Given the description of an element on the screen output the (x, y) to click on. 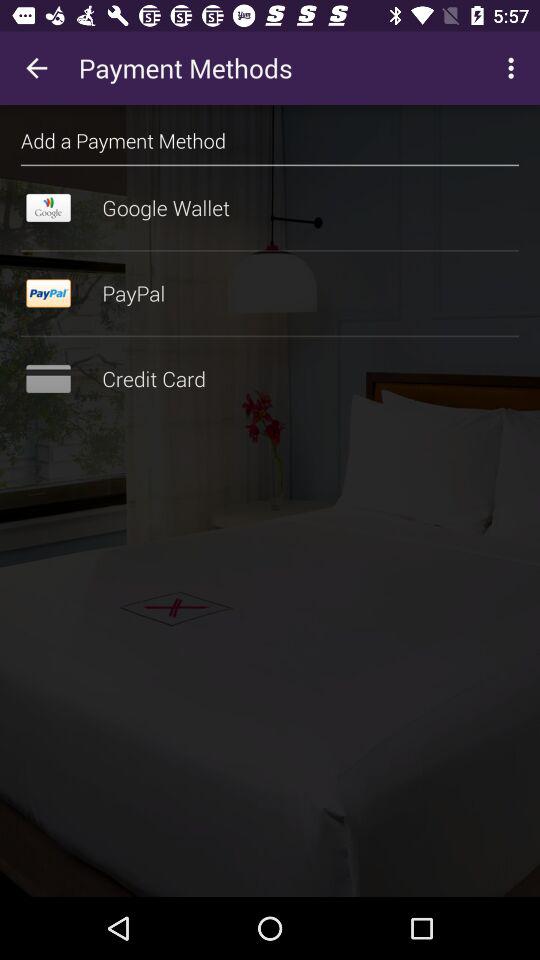
turn on item next to payment methods app (513, 67)
